Given the description of an element on the screen output the (x, y) to click on. 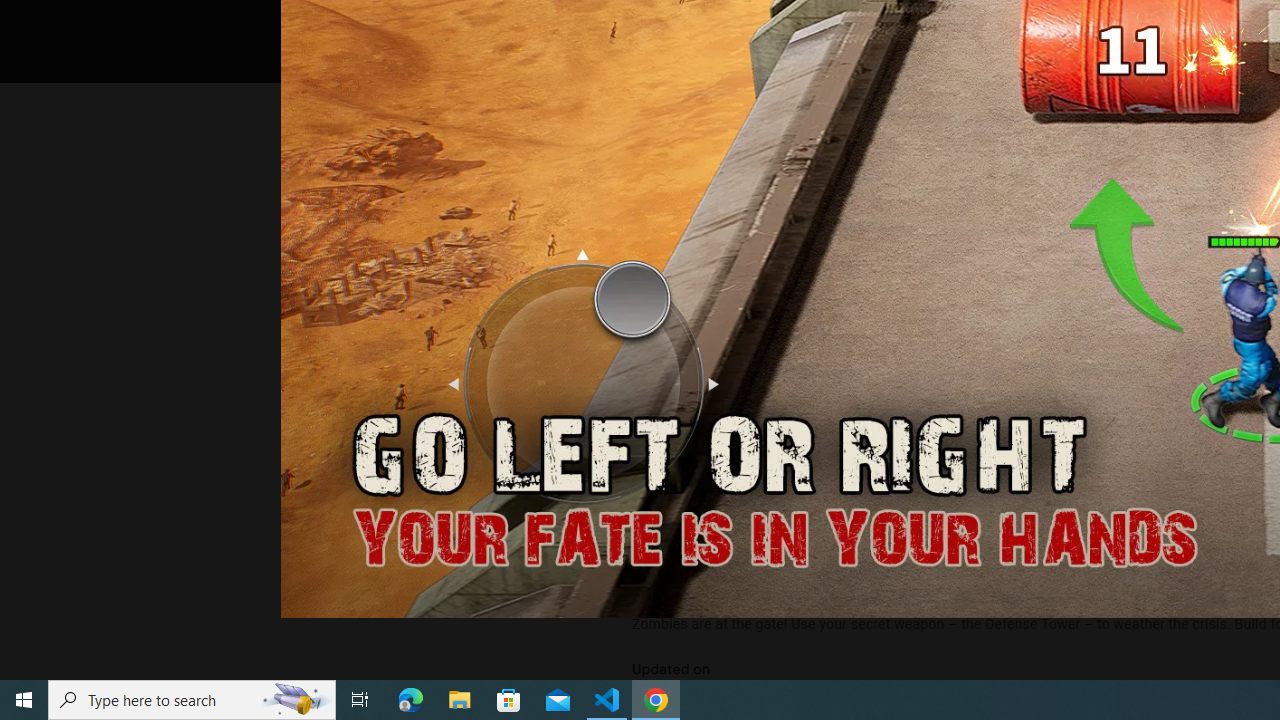
Add to wishlist (1014, 24)
Share (890, 24)
Install (732, 24)
See more information on About this game (830, 477)
Screenshot image (895, 271)
